Given the description of an element on the screen output the (x, y) to click on. 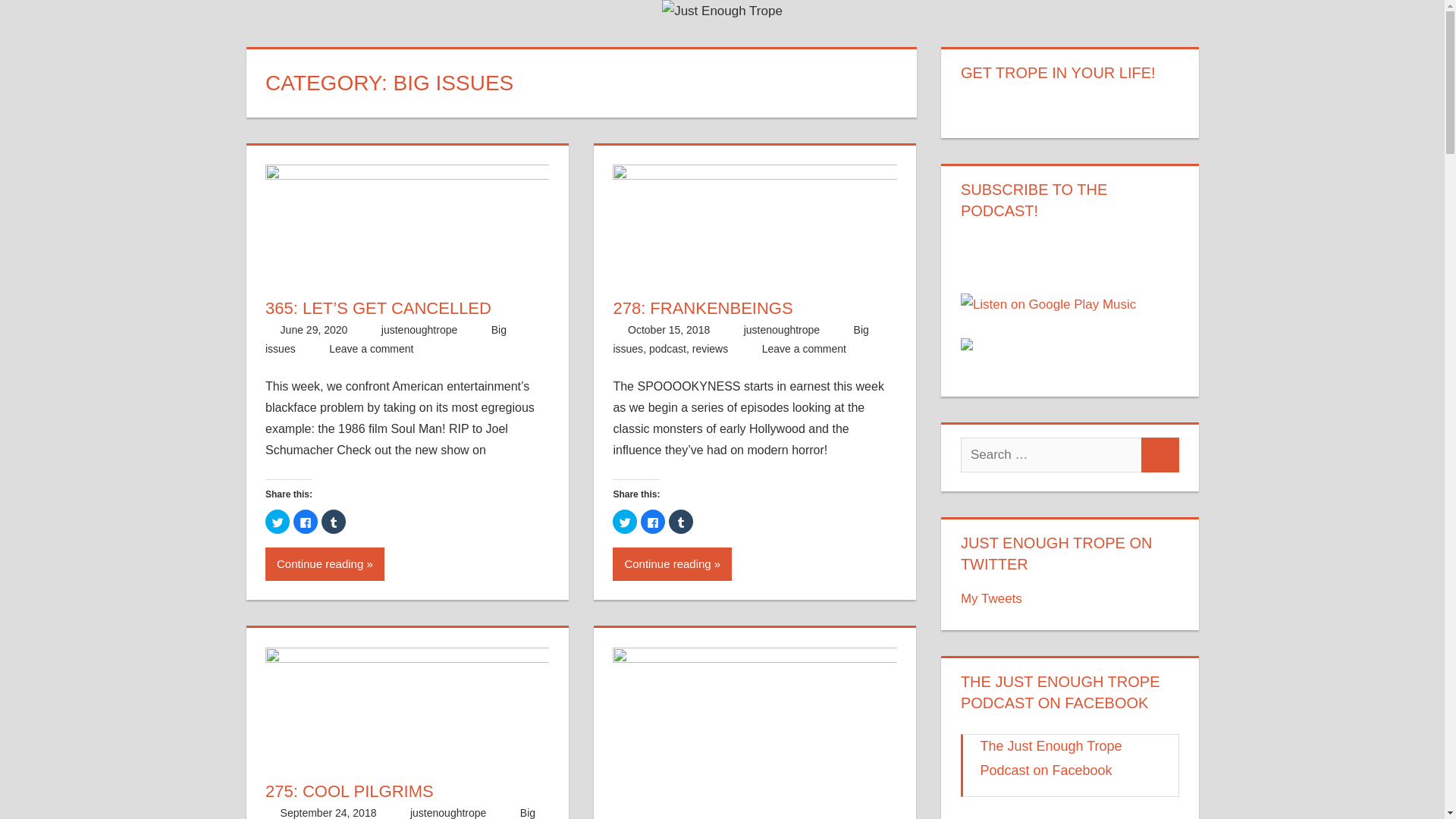
reviews (710, 348)
Click to share on Tumblr (333, 521)
June 29, 2020 (314, 329)
October 15, 2018 (668, 329)
Continue reading (324, 563)
Big issues (739, 338)
Big issues (399, 812)
Continue reading (672, 563)
Click to share on Facebook (652, 521)
Leave a comment (371, 348)
